Given the description of an element on the screen output the (x, y) to click on. 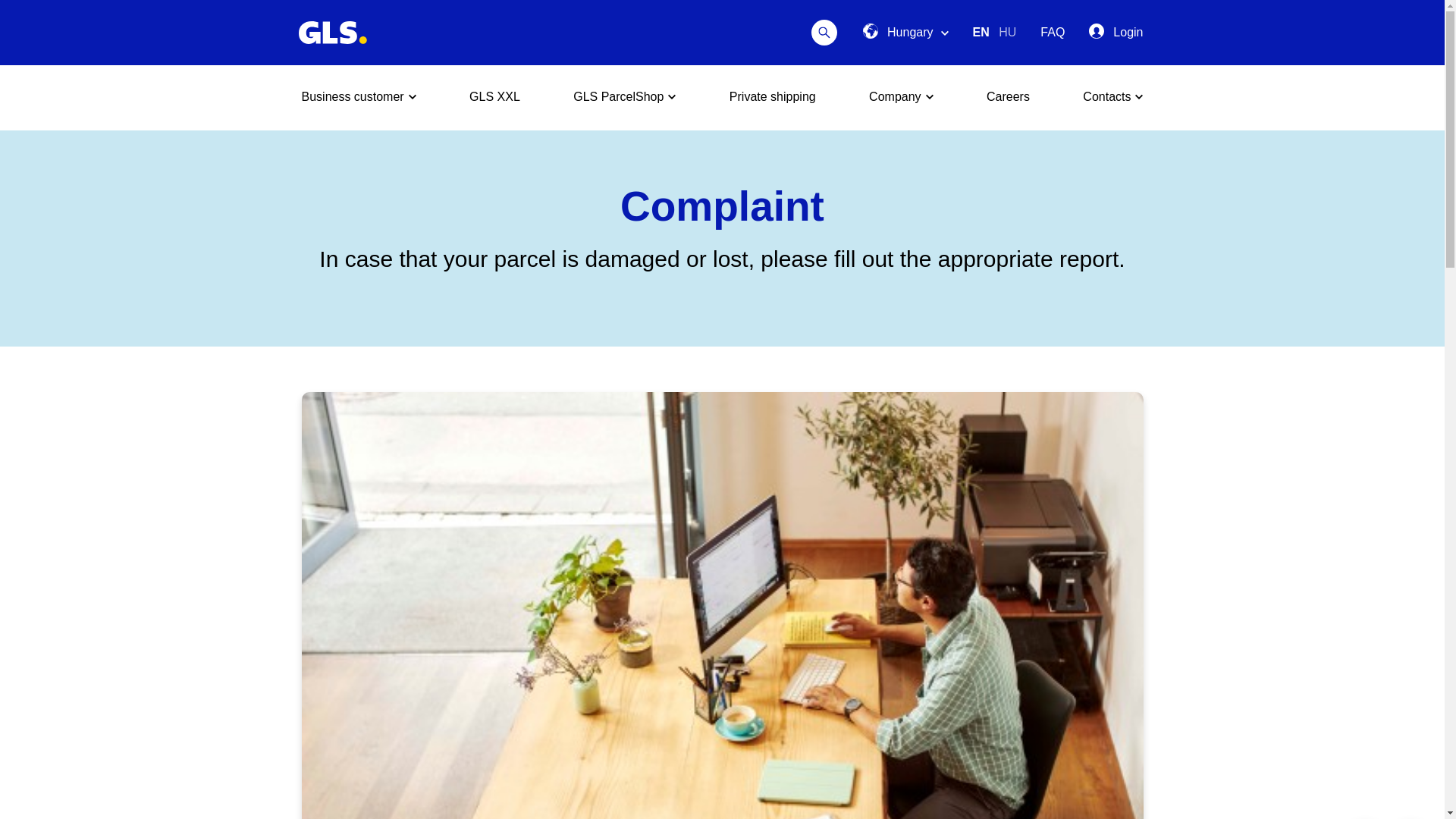
Business customer (358, 97)
EN (982, 31)
GLS ParcelShop (624, 97)
Login (1115, 32)
Hungary (905, 32)
HU (1007, 31)
Company (901, 97)
Private shipping (772, 97)
GLS XXL (493, 97)
Careers (1008, 97)
Contacts (1112, 97)
FAQ (1052, 31)
